Given the description of an element on the screen output the (x, y) to click on. 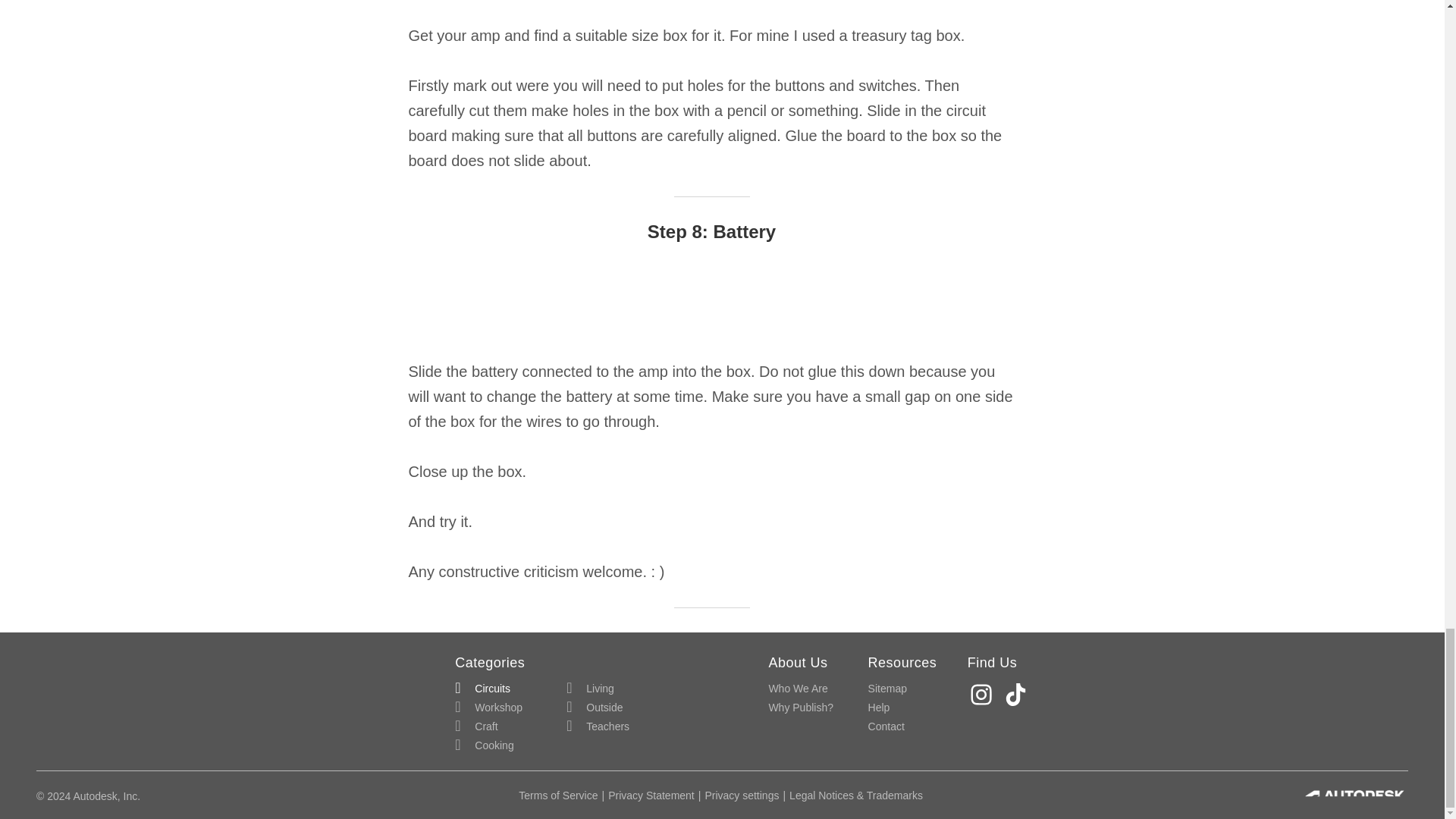
Outside (594, 707)
Teachers (597, 726)
Help (878, 707)
TikTok (1018, 694)
Instagram (983, 694)
Why Publish? (800, 707)
Privacy settings (741, 795)
Circuits (482, 688)
Terms of Service (557, 795)
Contact (885, 726)
